Given the description of an element on the screen output the (x, y) to click on. 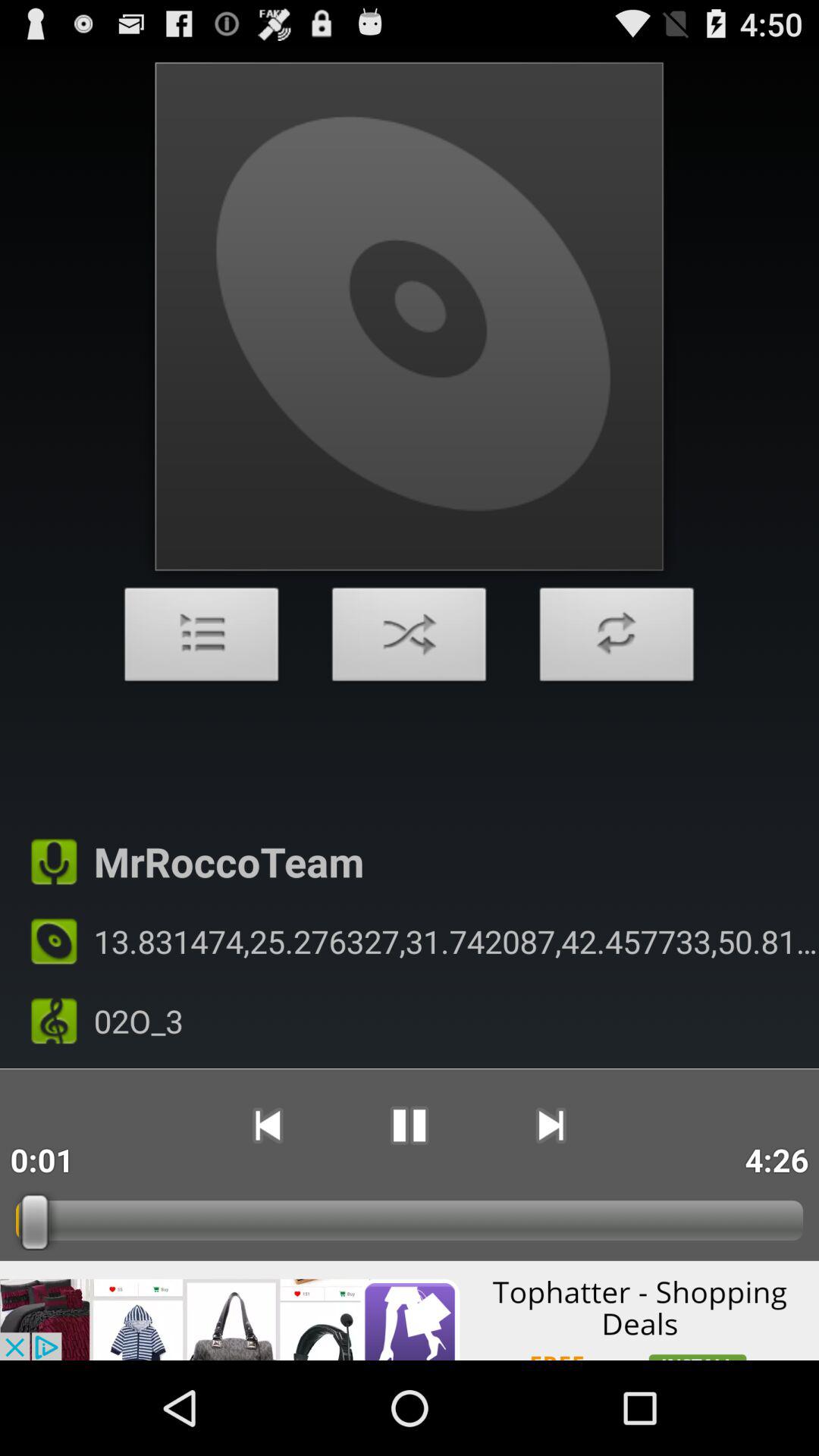
shuffle song (409, 638)
